Given the description of an element on the screen output the (x, y) to click on. 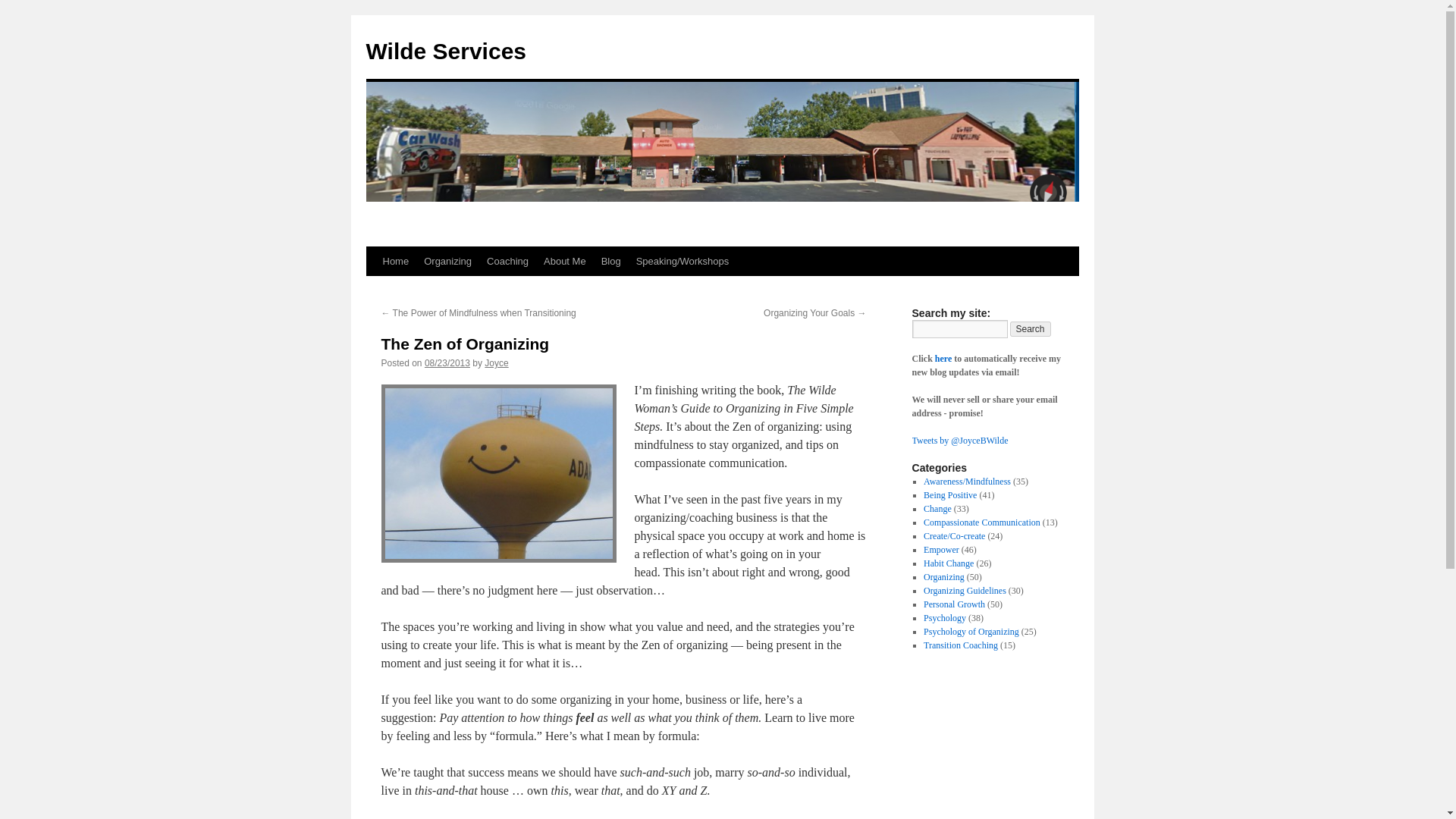
Joyce (496, 362)
View all posts by Joyce (496, 362)
Search (1030, 328)
Coaching (507, 261)
here (943, 357)
Blog (611, 261)
Organizing (447, 261)
7:00 am (447, 362)
Compassionate Communication (982, 521)
Being Positive (949, 494)
About Me (564, 261)
Search (1030, 328)
Change (937, 508)
Home (395, 261)
Wilde Services (445, 50)
